Given the description of an element on the screen output the (x, y) to click on. 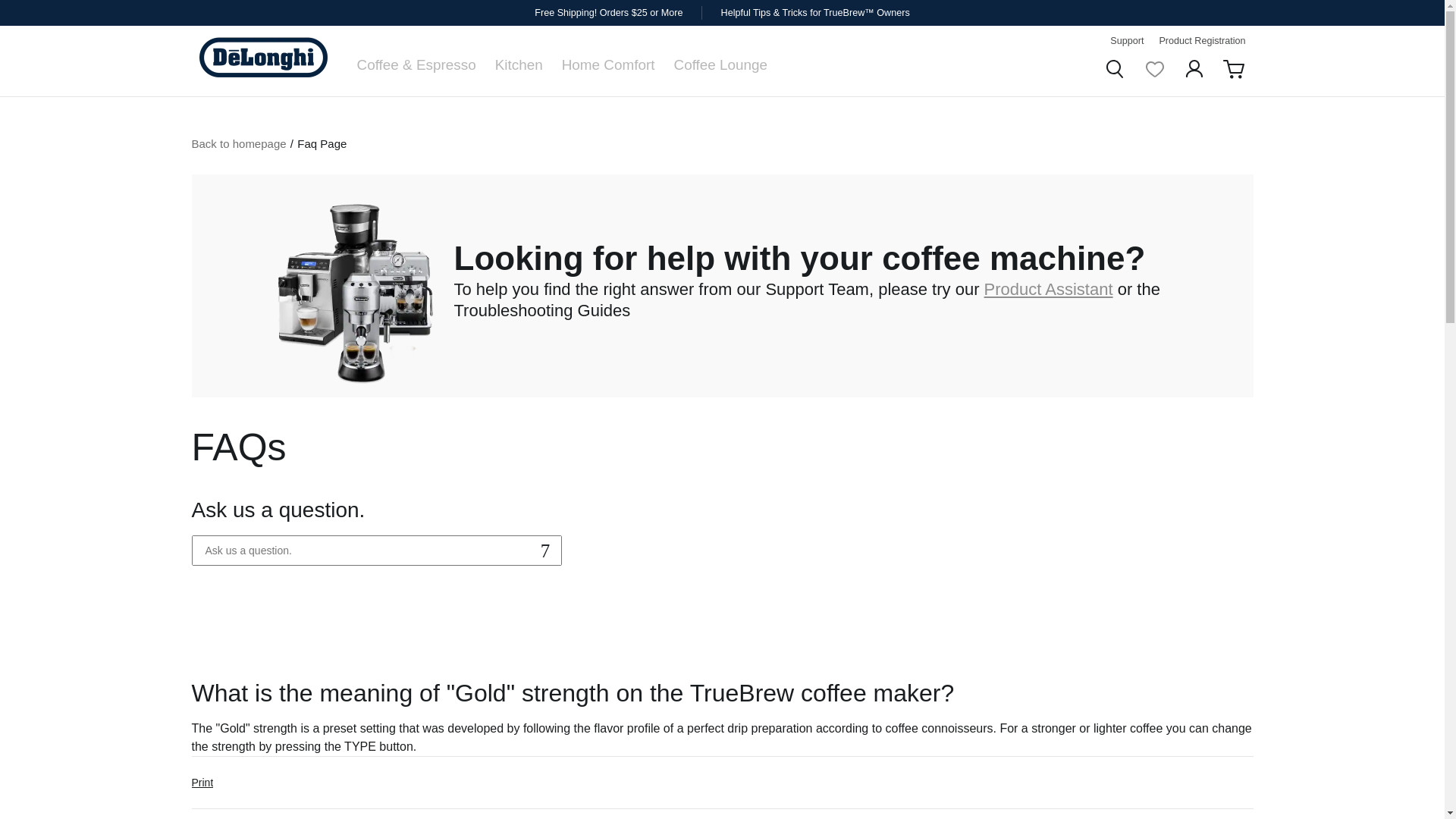
Product Registration (1201, 40)
Support (1125, 40)
Home Comfort (608, 64)
Coffee Lounge (721, 64)
Kitchen (519, 64)
